Given the description of an element on the screen output the (x, y) to click on. 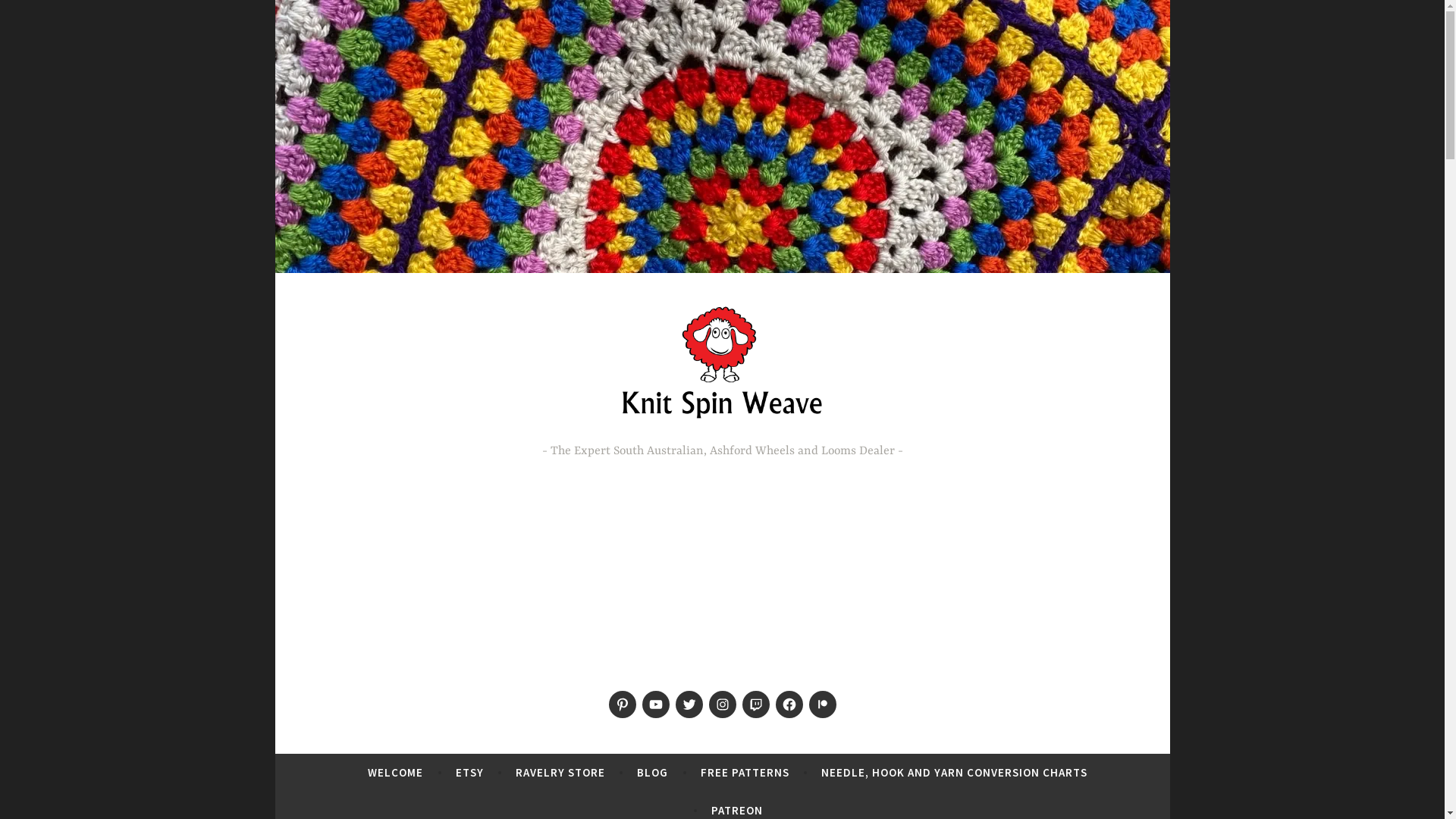
ETSY Element type: text (469, 772)
Facebook Element type: text (788, 704)
Menu Item Element type: text (654, 704)
BLOG Element type: text (652, 772)
Menu Item Element type: text (688, 704)
RAVELRY STORE Element type: text (560, 772)
Instagram Element type: text (721, 704)
patreon Element type: text (821, 704)
Twitch Element type: text (754, 704)
Menu Item Element type: text (621, 704)
WELCOME Element type: text (395, 772)
NEEDLE, HOOK AND YARN CONVERSION CHARTS Element type: text (954, 772)
FREE PATTERNS Element type: text (744, 772)
